Given the description of an element on the screen output the (x, y) to click on. 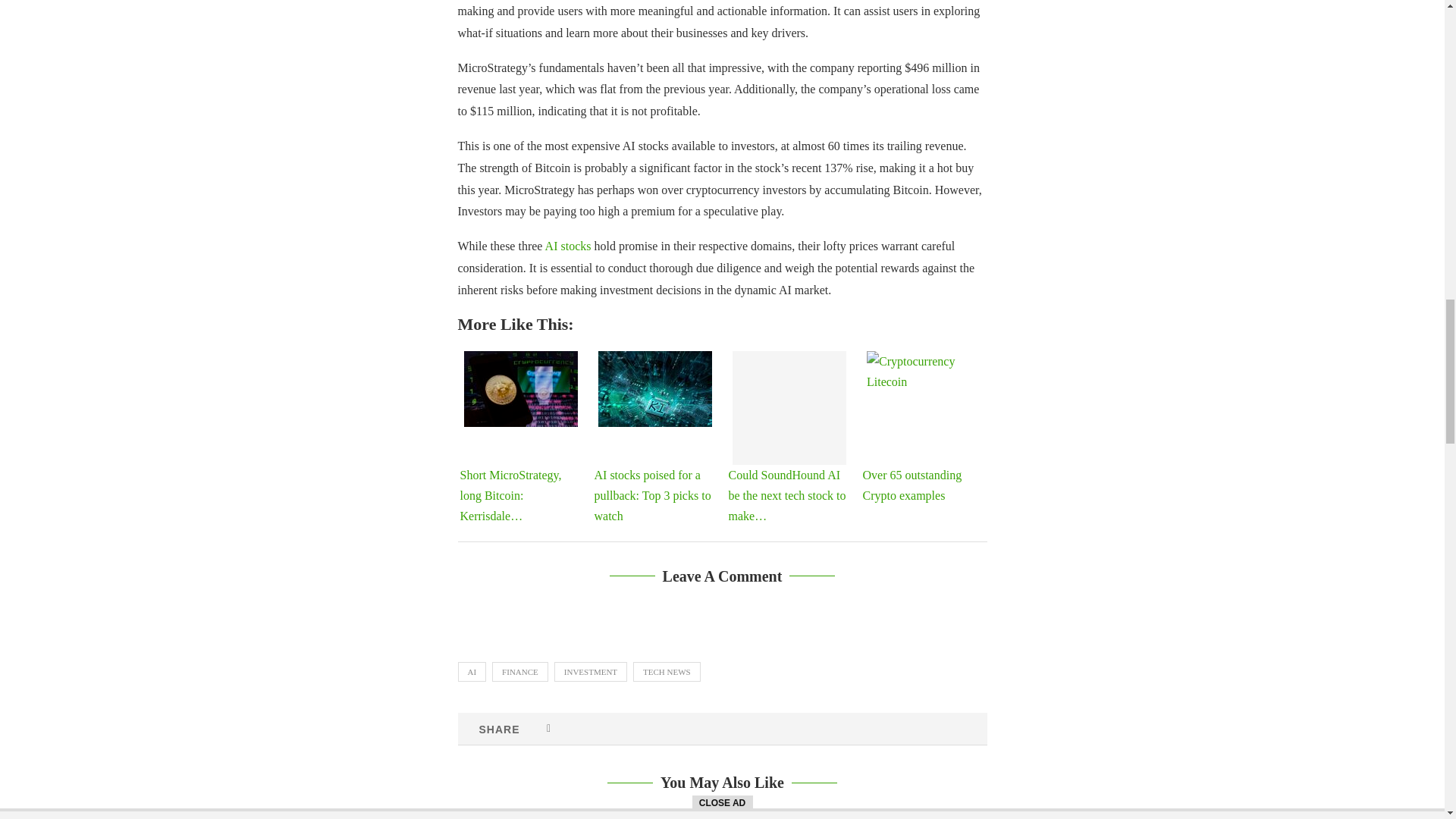
Over 65 outstanding Crypto examples (922, 388)
AMD rides the AI wave to beat earnings expectations (904, 817)
Apple exceeds Wall Street expectations (722, 817)
AI stocks poised for a pullback: Top 3 picks to watch (654, 388)
